Given the description of an element on the screen output the (x, y) to click on. 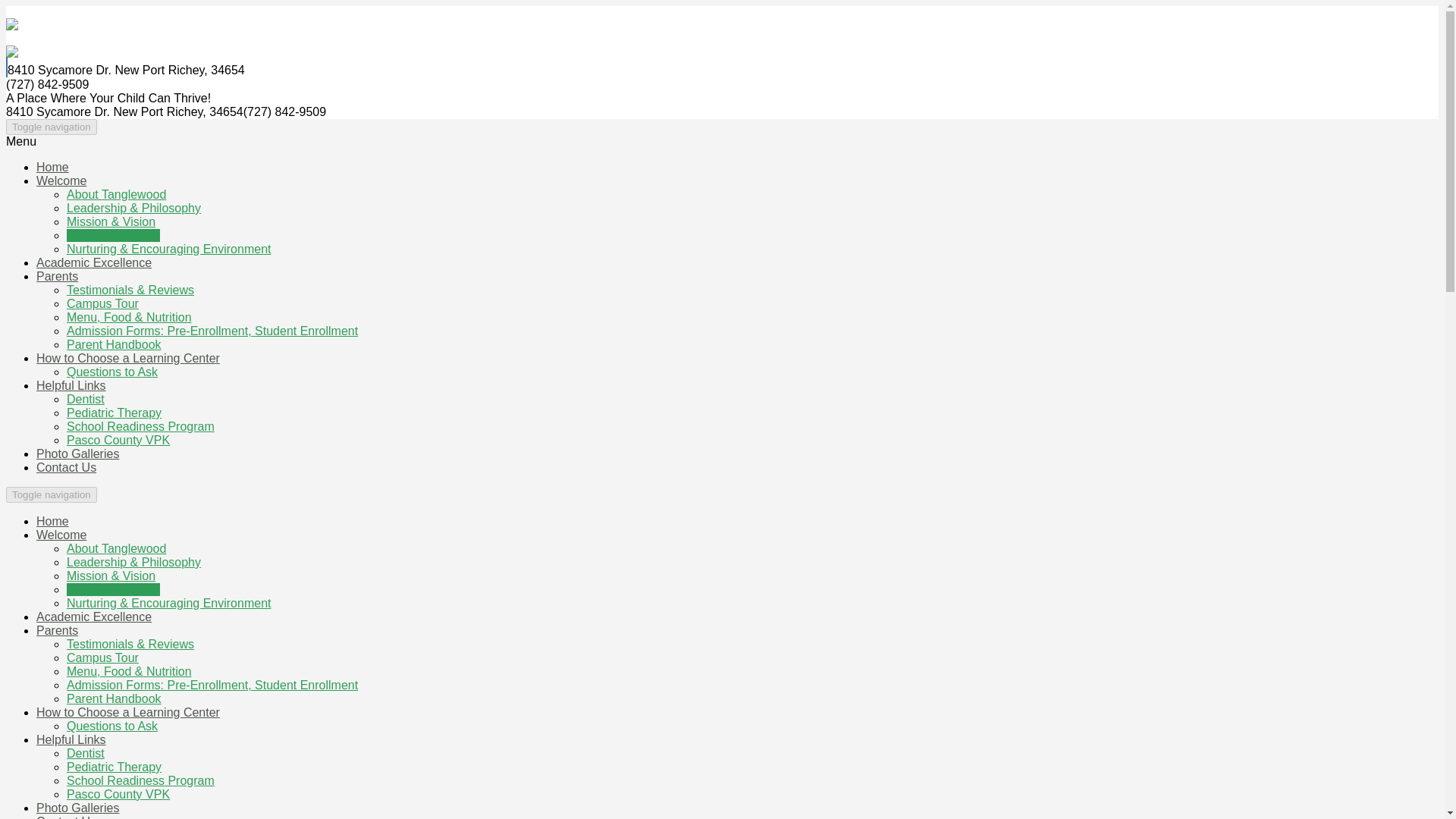
Toggle navigation (51, 494)
How to Choose a Learning Center (127, 358)
Campus Tour (102, 657)
Parents (57, 276)
Pasco County VPK (118, 440)
Toggle navigation (51, 126)
Contact Us (66, 467)
Welcome (60, 534)
Dentist (85, 399)
Parent Handbook (113, 344)
About Tanglewood (115, 194)
Photo Galleries (77, 453)
Questions to Ask (111, 371)
Helpful Links (71, 385)
Pediatric Therapy (113, 412)
